Given the description of an element on the screen output the (x, y) to click on. 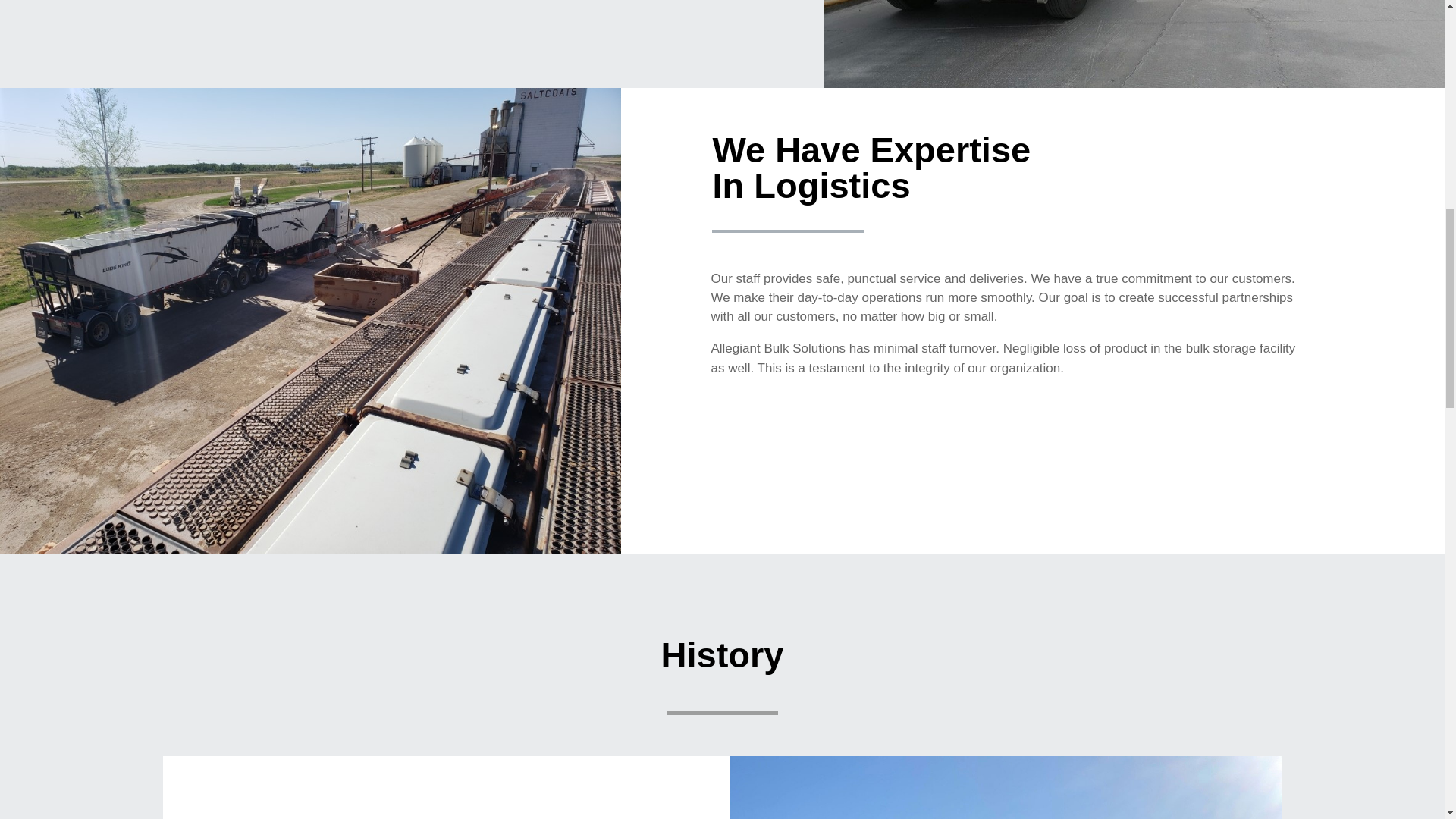
prestige (1005, 787)
